Given the description of an element on the screen output the (x, y) to click on. 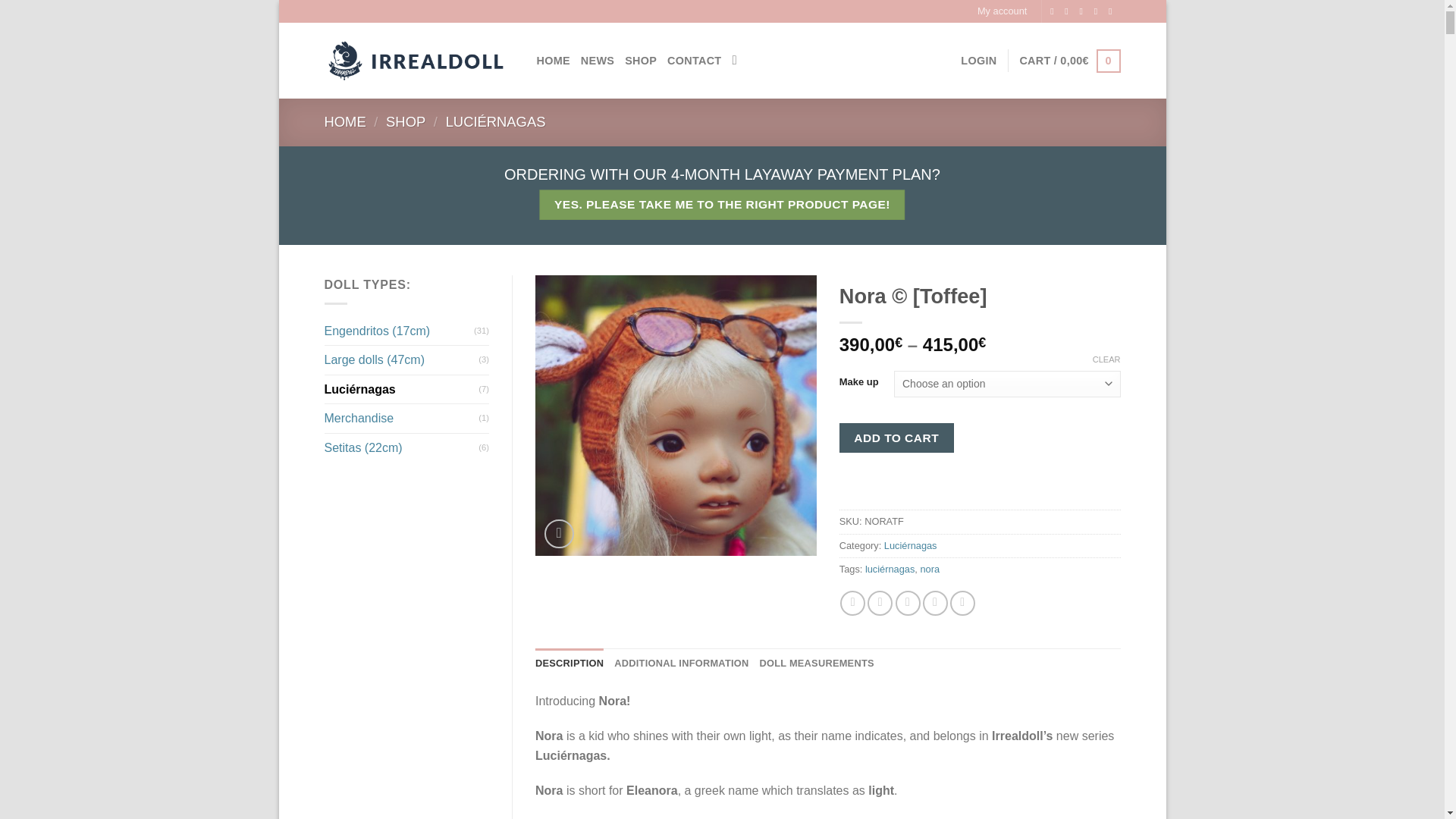
SHOP (640, 60)
Irrealdoll - bjd (418, 60)
Merchandise (401, 418)
HOME (345, 121)
CONTACT (693, 60)
SHOP (405, 121)
Zoom (558, 532)
HOME (553, 60)
NEWS (597, 60)
Share on Facebook (852, 602)
